Given the description of an element on the screen output the (x, y) to click on. 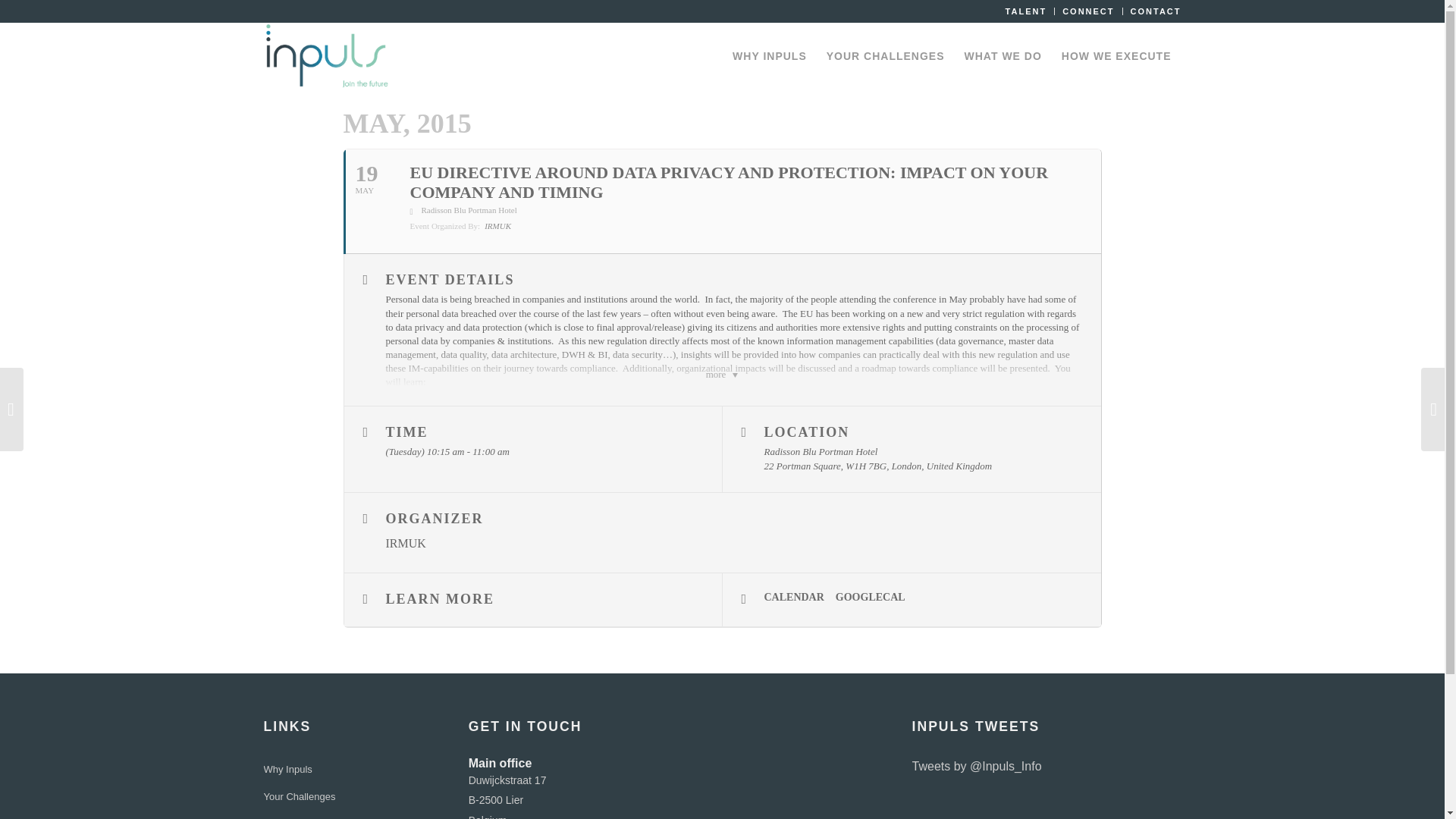
CONTACT (1155, 11)
CALENDAR (799, 597)
YOUR CHALLENGES (885, 56)
WHY INPULS (769, 56)
GOOGLECAL (876, 597)
WHAT WE DO (1003, 56)
Add to google calendar (876, 597)
LEARN MORE (532, 599)
HOW WE EXECUTE (1115, 56)
